Given the description of an element on the screen output the (x, y) to click on. 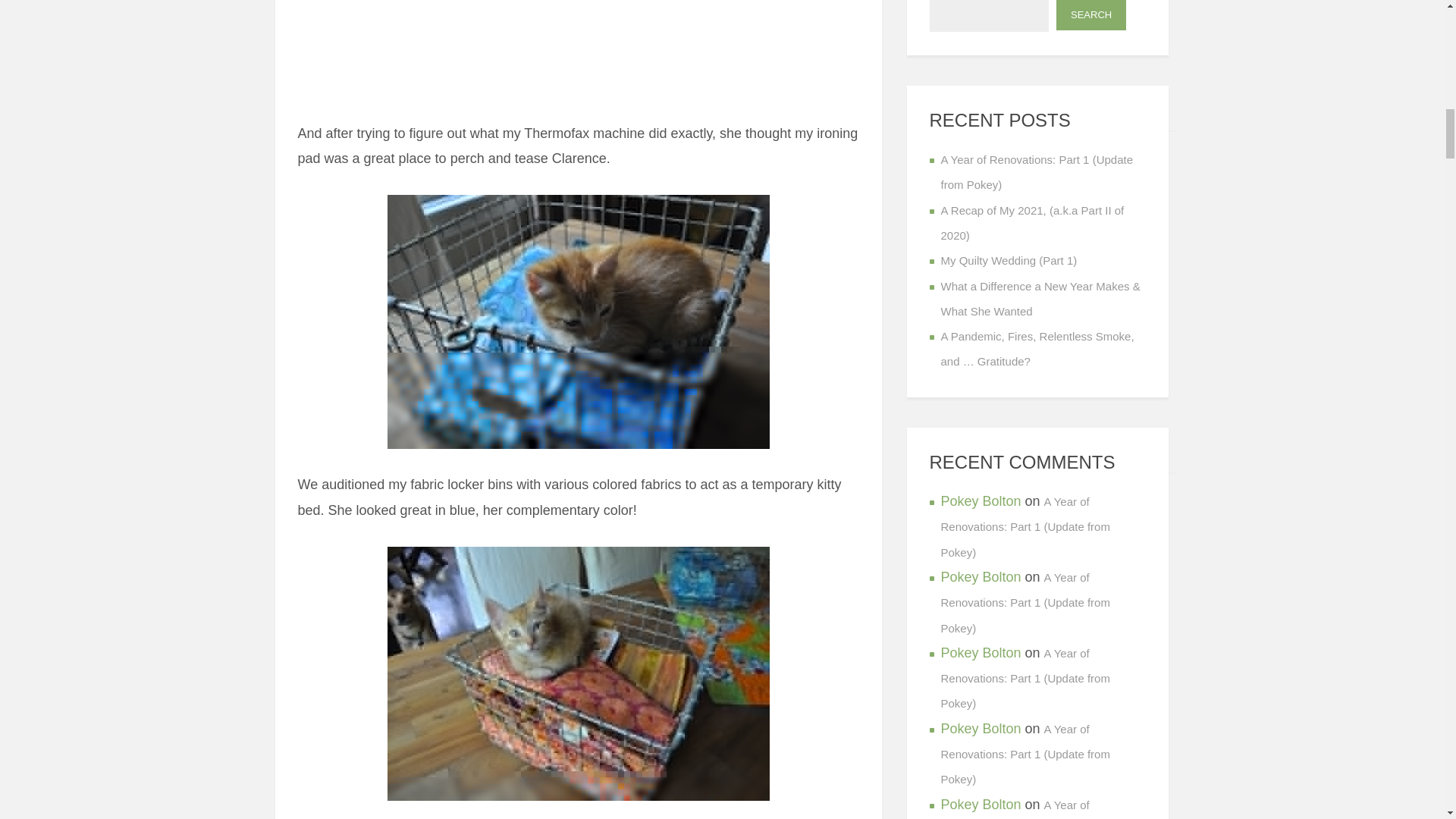
thermofax machine (577, 50)
Search (1091, 15)
blue fabric (577, 321)
Orange fabric (577, 673)
